Given the description of an element on the screen output the (x, y) to click on. 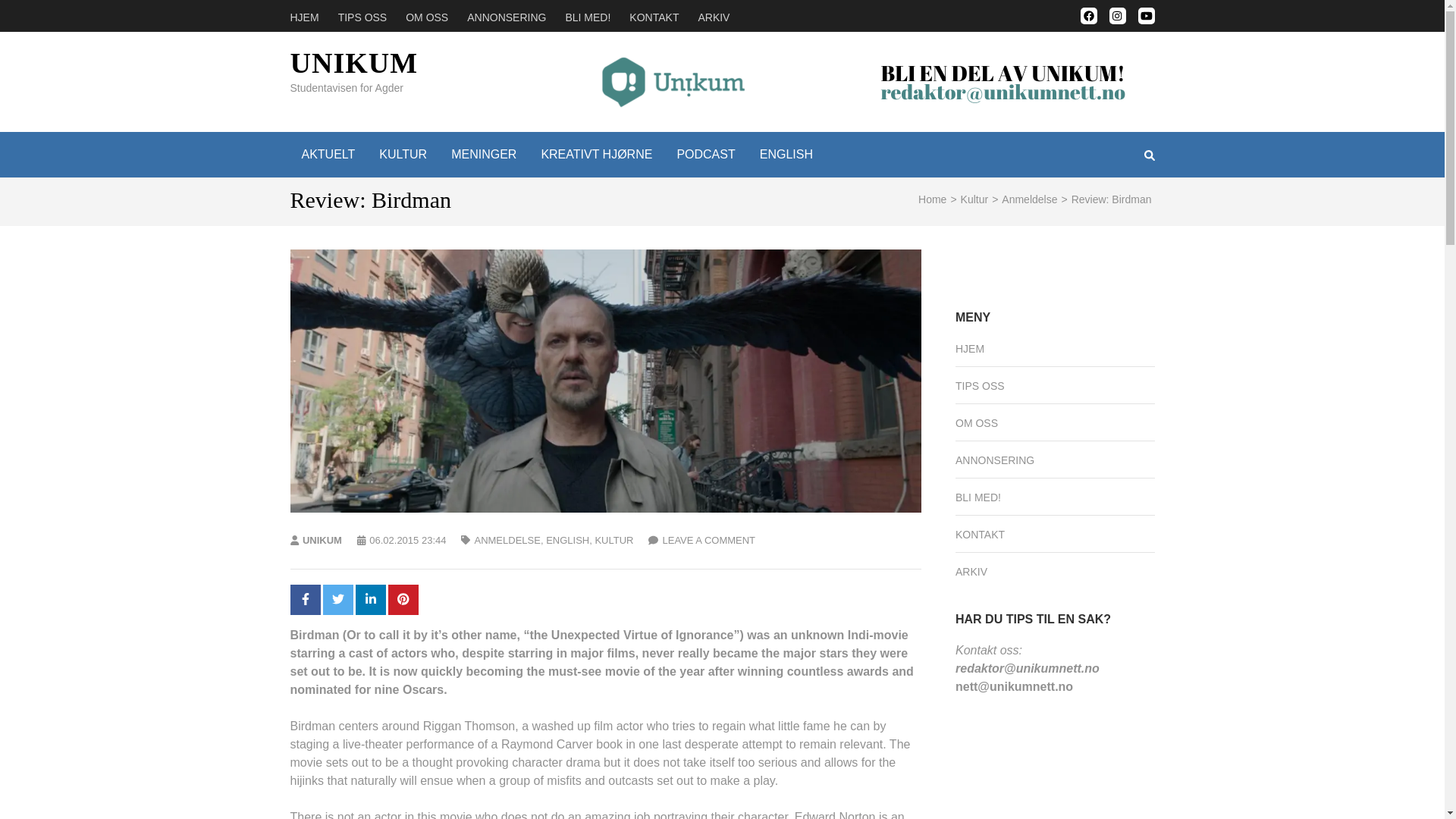
facebook (1088, 15)
youtube (1145, 15)
instagram (1116, 15)
